Given the description of an element on the screen output the (x, y) to click on. 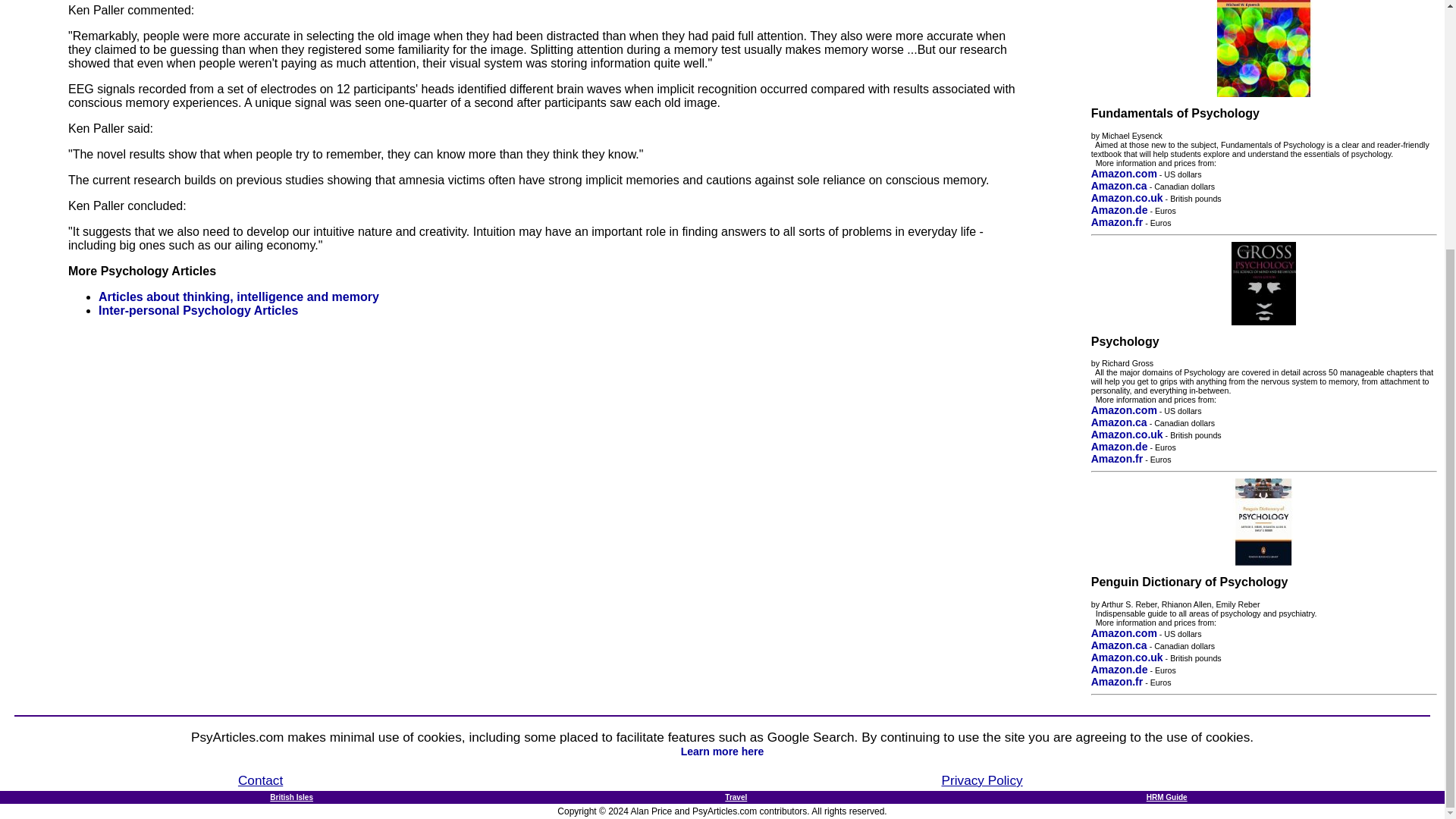
British Isles (291, 797)
Articles about thinking, intelligence and memory (238, 296)
Amazon.fr (1116, 681)
Privacy Policy (982, 780)
Inter-personal Psychology Articles (198, 309)
Amazon.de (1119, 446)
Amazon.ca (1118, 645)
Amazon.co.uk (1126, 657)
Contact (260, 780)
Amazon.com (1123, 410)
Travel (735, 797)
Amazon.fr (1116, 222)
Learn more here (722, 751)
HRM Guide (1167, 797)
Amazon.com (1123, 173)
